Given the description of an element on the screen output the (x, y) to click on. 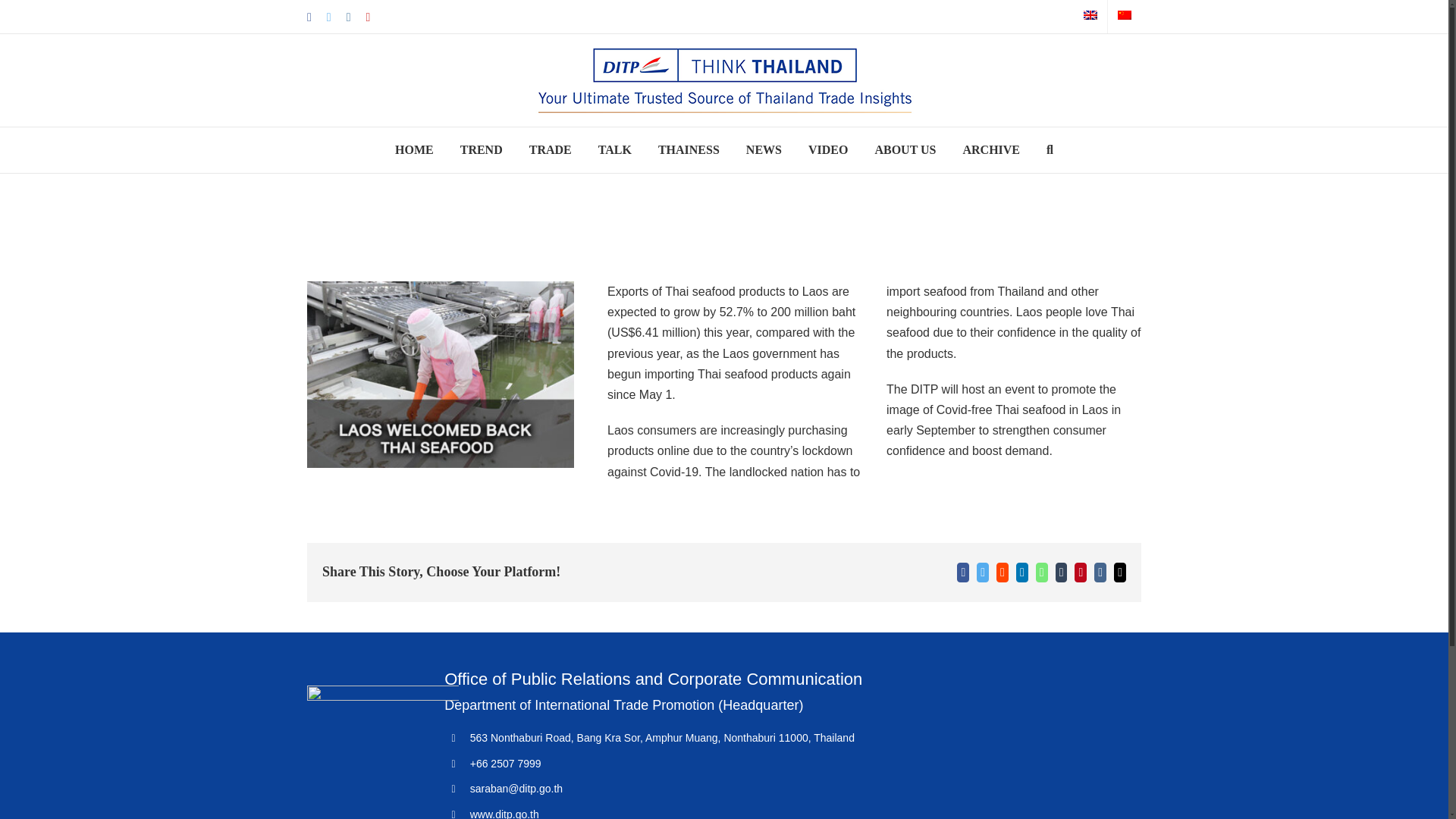
TREND (481, 149)
ARCHIVE (991, 149)
Laos Welcomed Back Thai Seafood (440, 374)
TRADE (550, 149)
ABOUT US (905, 149)
English (1090, 14)
www.ditp.go.th (504, 813)
THAINESS (688, 149)
